Given the description of an element on the screen output the (x, y) to click on. 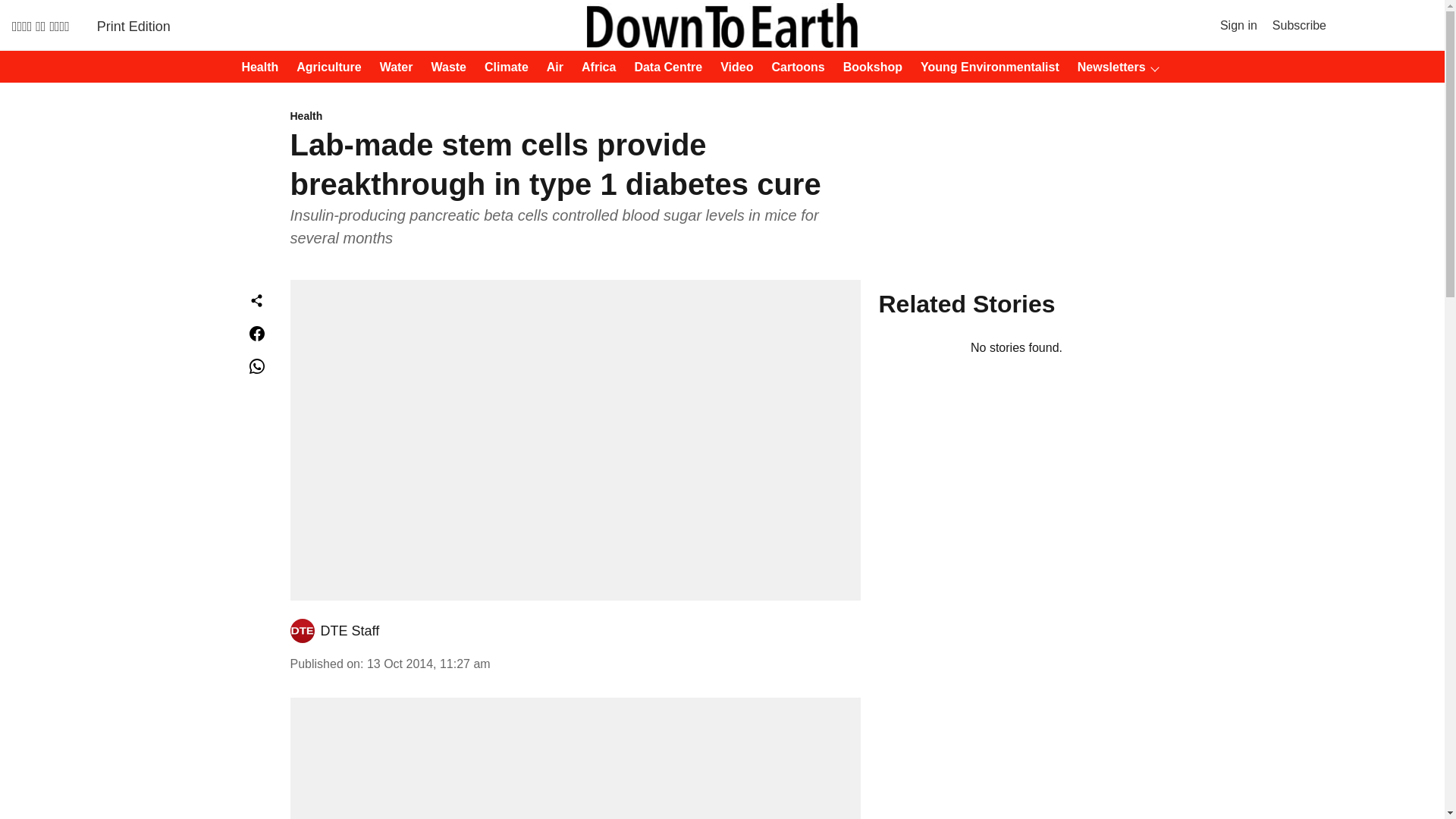
Waste (443, 67)
2014-10-13 11:27 (428, 663)
DTE Staff (349, 630)
Africa (593, 67)
Health (574, 116)
Video (731, 67)
Young Environmentalist (985, 67)
Water (392, 67)
Agriculture (323, 67)
Climate (502, 67)
Air (550, 67)
Data Centre (662, 67)
Cartoons (793, 67)
Health (254, 67)
Bookshop (868, 67)
